Given the description of an element on the screen output the (x, y) to click on. 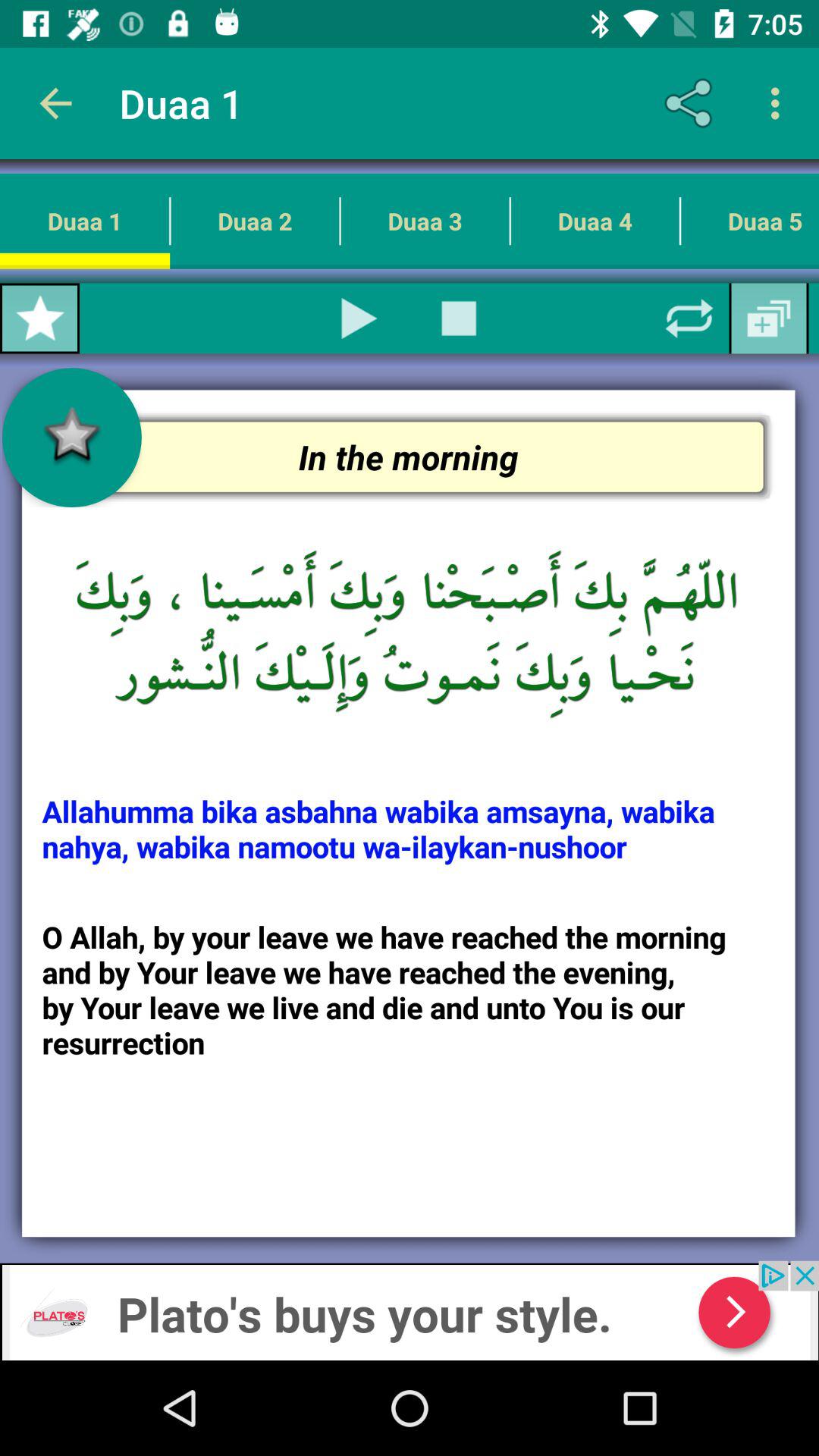
play selection (359, 318)
